Given the description of an element on the screen output the (x, y) to click on. 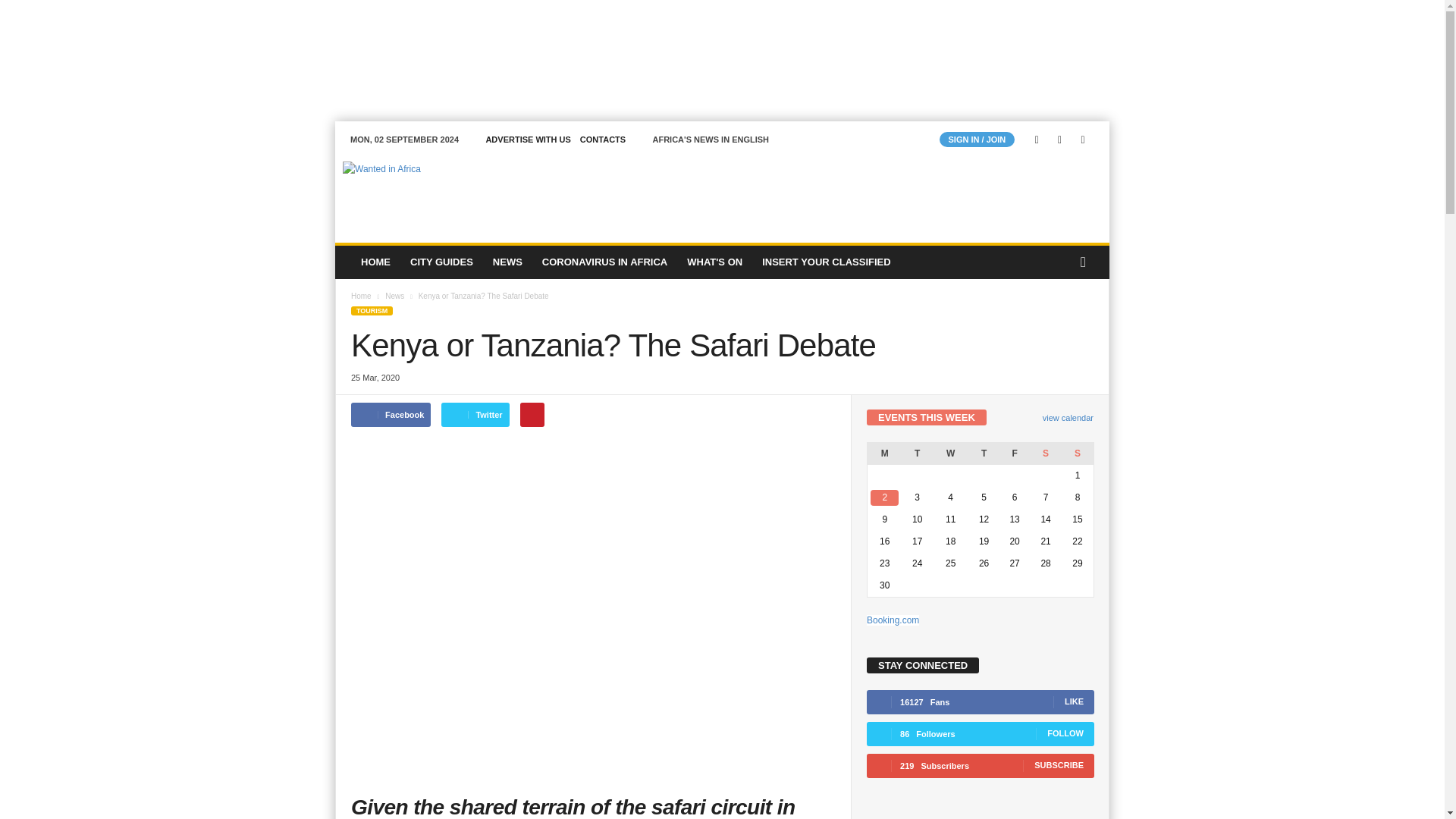
CONTACTS (602, 139)
Wanted in Africa (437, 192)
Wanted in Africa (437, 192)
ADVERTISE WITH US (527, 139)
